Given the description of an element on the screen output the (x, y) to click on. 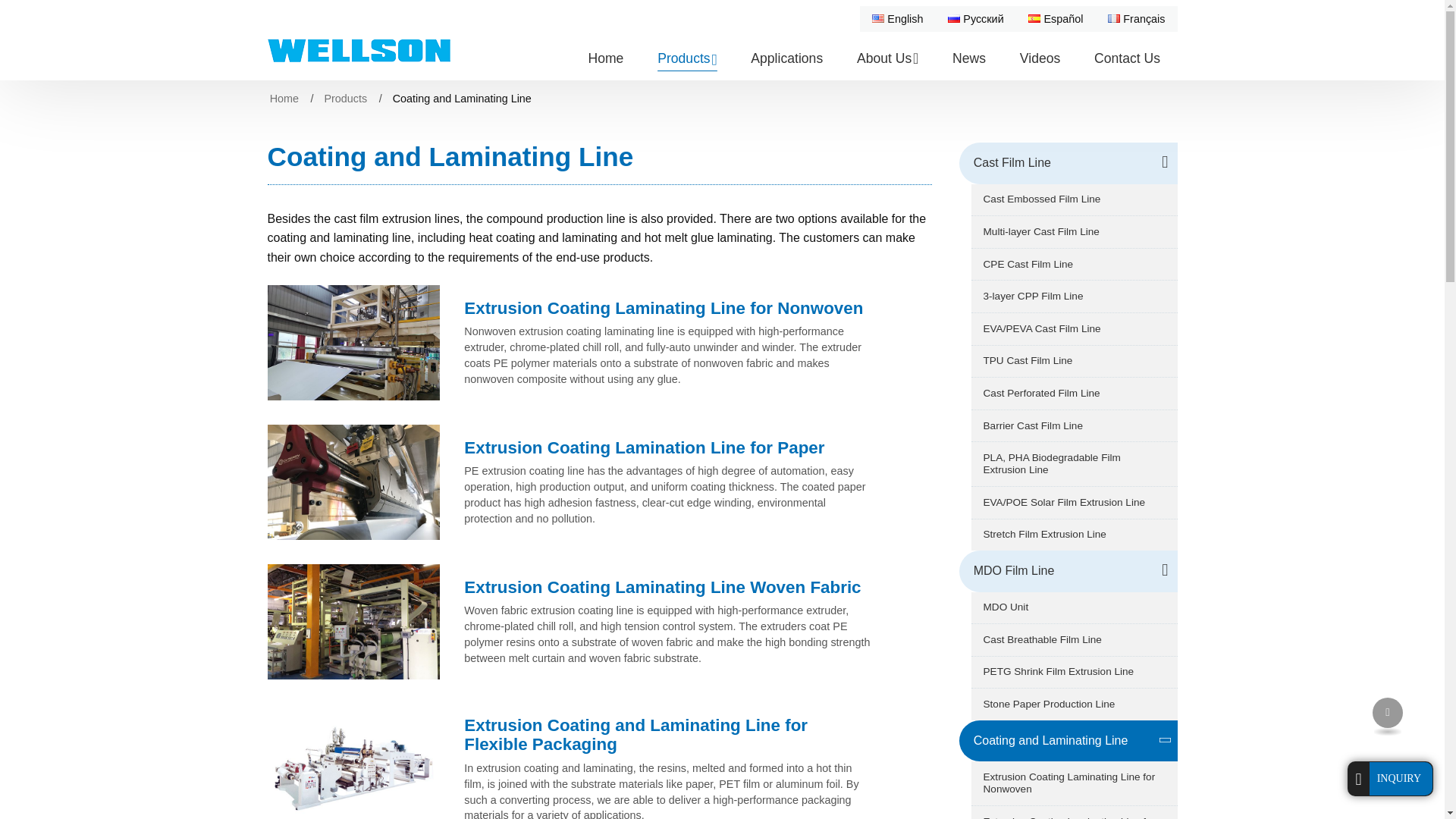
About Us (887, 58)
Products (687, 58)
Videos (1039, 58)
News (968, 58)
Applications (786, 58)
Home (605, 58)
English (898, 18)
